Given the description of an element on the screen output the (x, y) to click on. 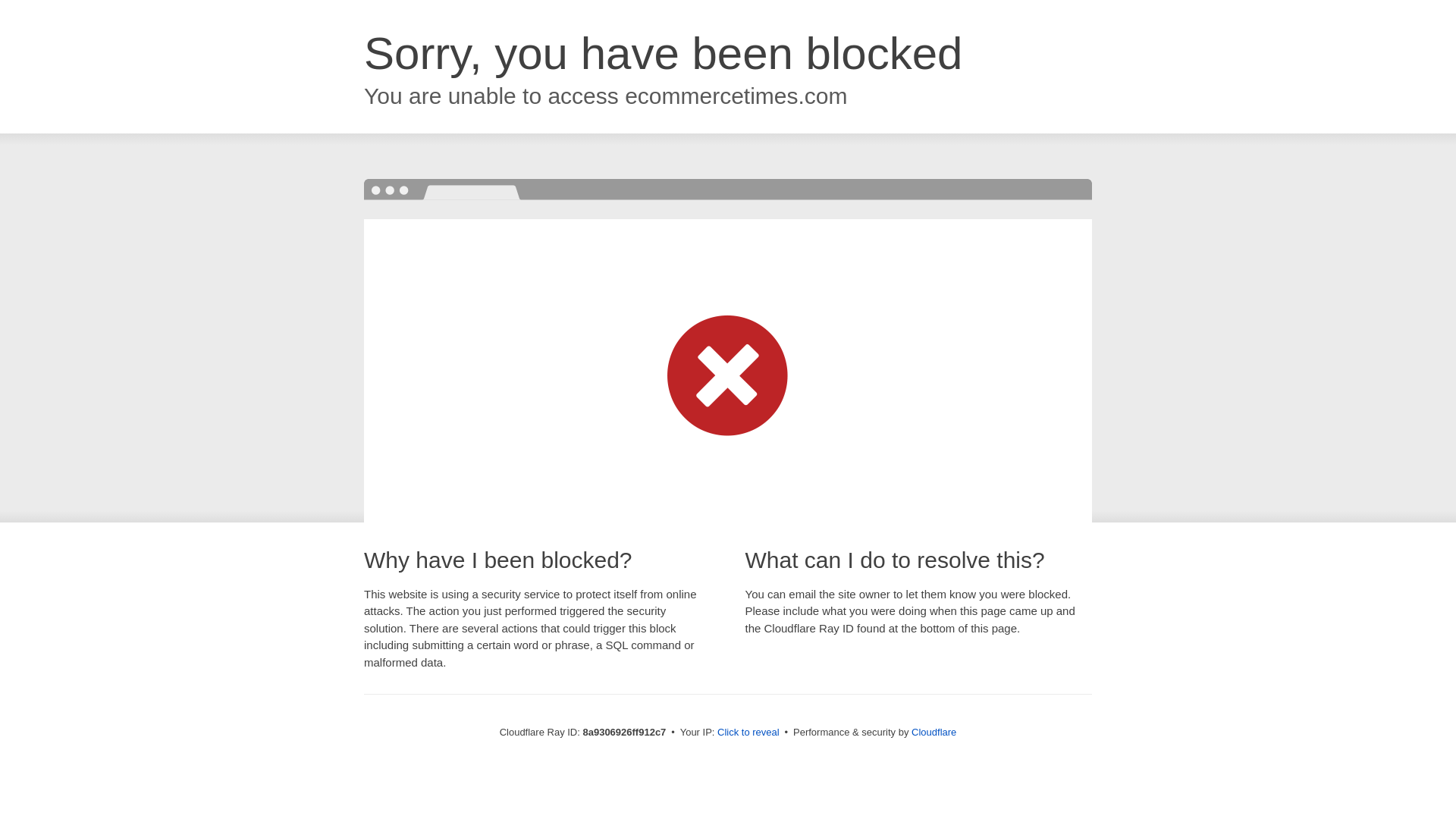
Cloudflare (933, 731)
Click to reveal (747, 732)
